Given the description of an element on the screen output the (x, y) to click on. 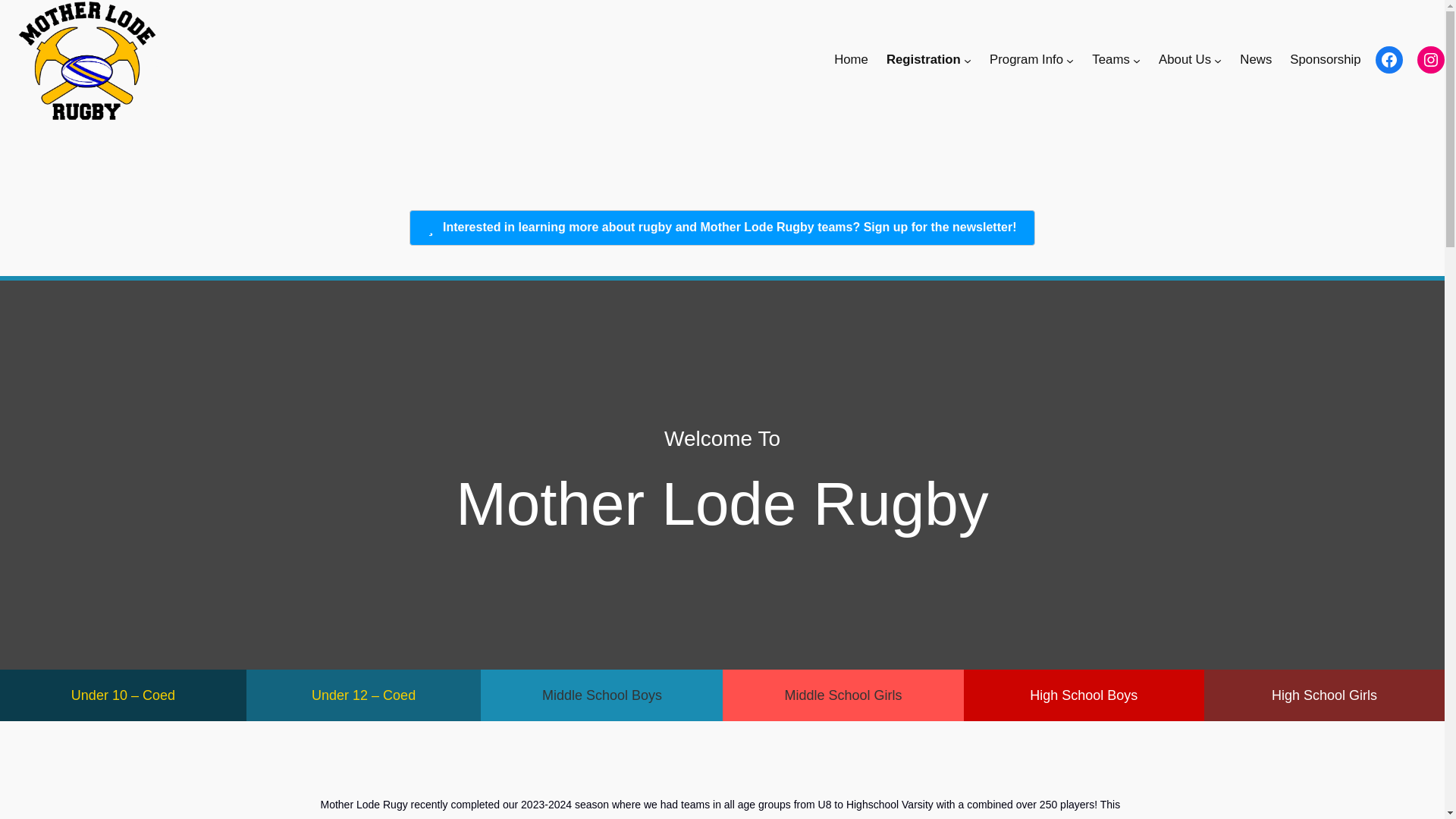
About Us (1184, 59)
Sponsorship (1324, 59)
Facebook (1389, 59)
Registration (923, 59)
News (1255, 59)
Teams (1110, 59)
Home (850, 59)
Middle School Girls (842, 695)
Middle School Boys (601, 695)
